Given the description of an element on the screen output the (x, y) to click on. 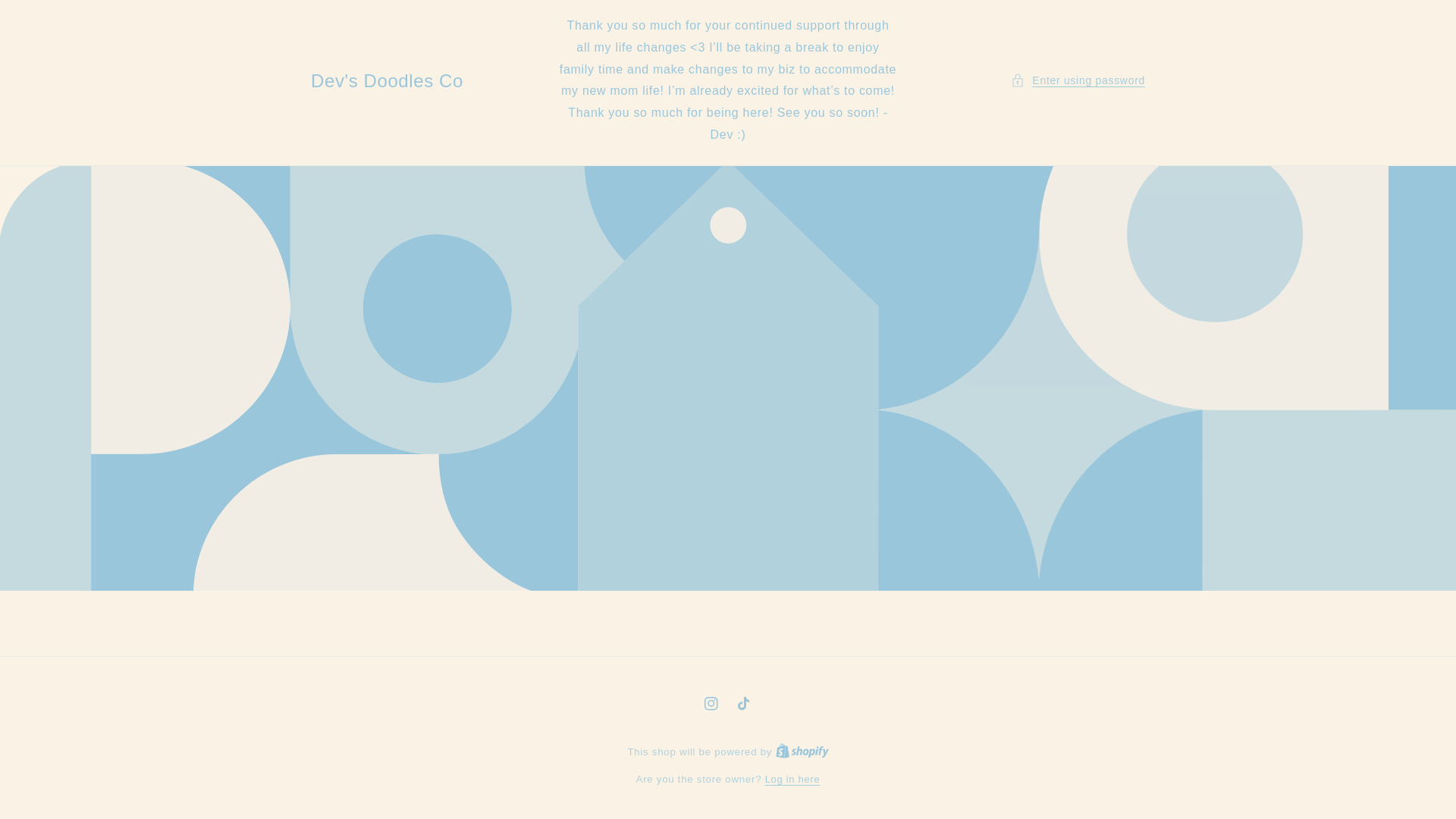
Log in here (793, 779)
Create your own online store with Shopify (802, 751)
Skip to content (45, 16)
TikTok (744, 703)
Instagram (711, 703)
Shopify logo (802, 751)
